Given the description of an element on the screen output the (x, y) to click on. 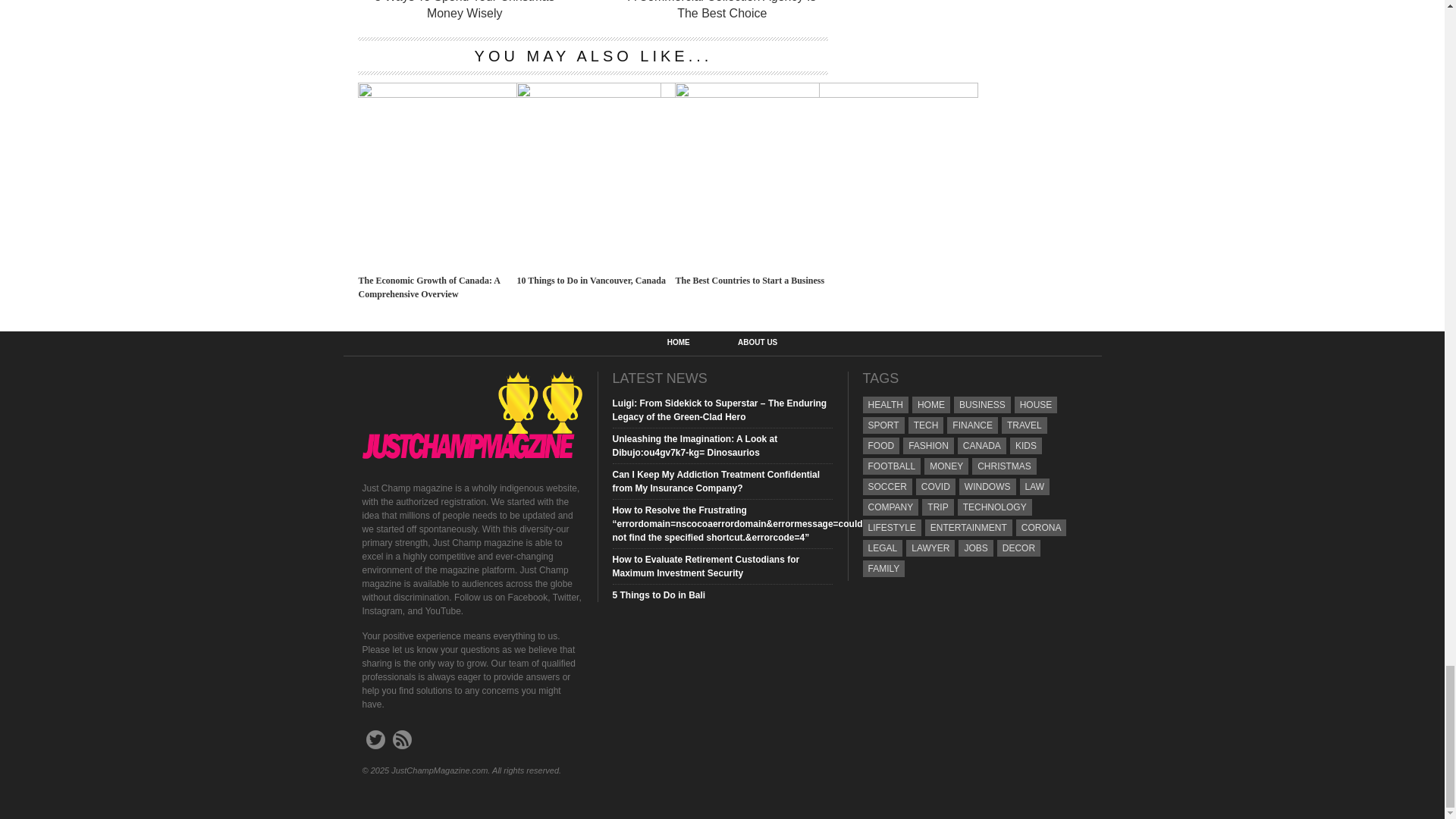
A Commercial Collection Agency Is The Best Choice (722, 11)
5 Ways To Spend Your Christmas Money Wisely (463, 11)
The Economic Growth of Canada: A Comprehensive Overview (433, 287)
10 Things to Do in Vancouver, Canada (667, 92)
The Economic Growth of Canada: A Comprehensive Overview (509, 92)
The Best Countries to Start a Business (826, 92)
